Given the description of an element on the screen output the (x, y) to click on. 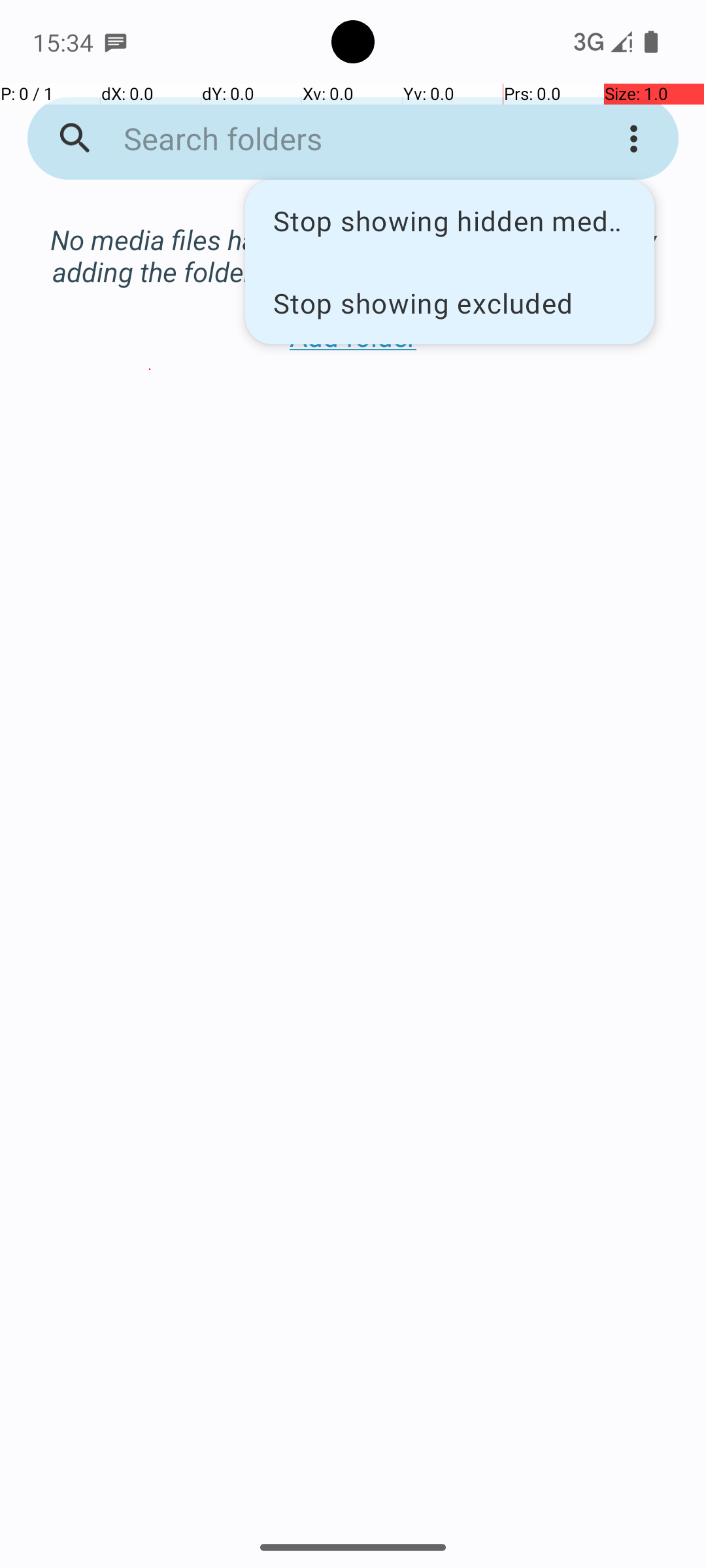
Stop showing hidden media Element type: android.widget.TextView (449, 220)
Stop showing excluded Element type: android.widget.TextView (449, 302)
